Given the description of an element on the screen output the (x, y) to click on. 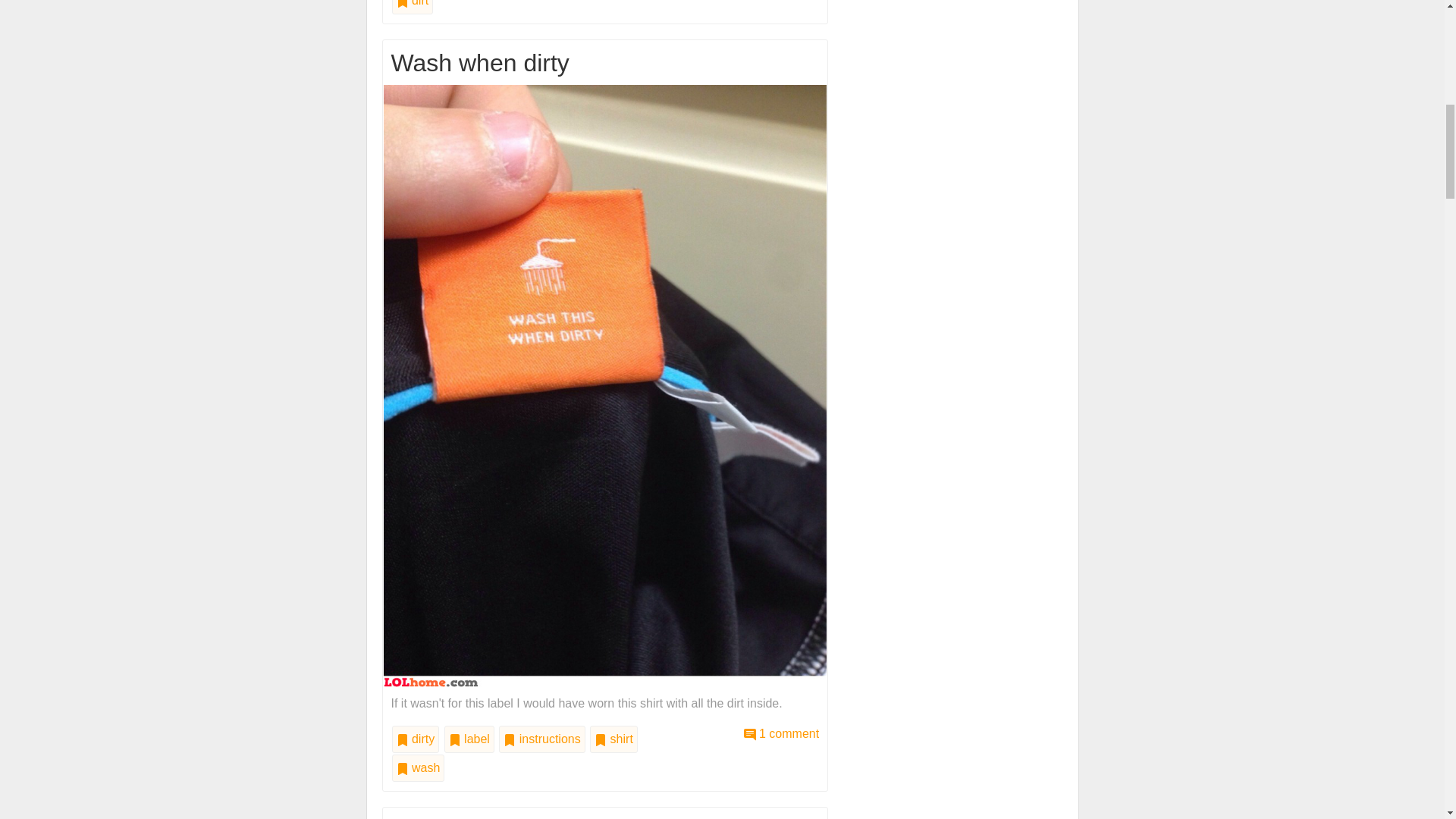
instructions (542, 738)
Wash when dirty (781, 733)
wash (417, 768)
dirt (411, 7)
dirty (415, 738)
1 comment (781, 733)
label (469, 738)
Wash when dirty (605, 384)
shirt (613, 738)
